Given the description of an element on the screen output the (x, y) to click on. 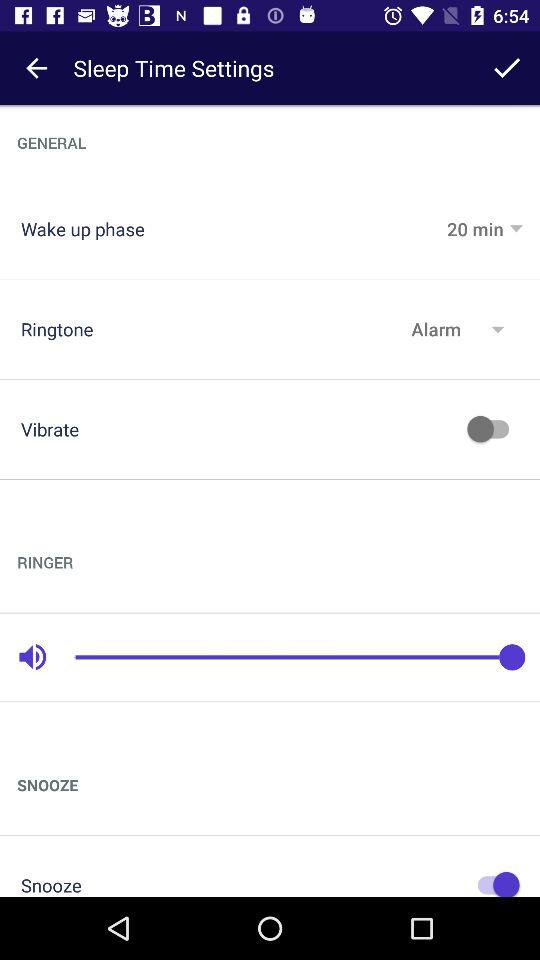
select the button which is immediately right to the snooze at the bottom (492, 881)
